Given the description of an element on the screen output the (x, y) to click on. 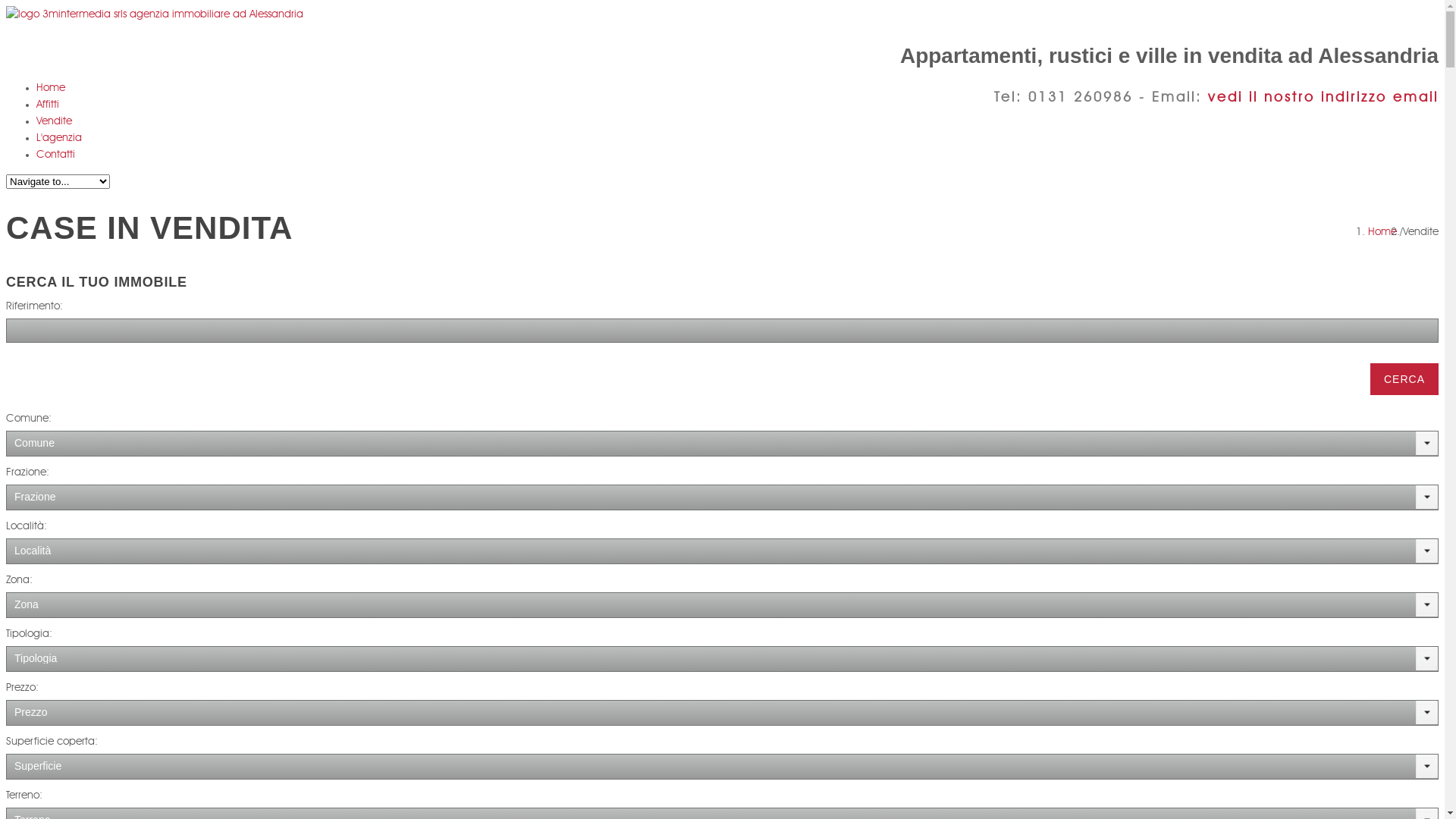
Home Element type: text (50, 87)
0131 260986 Element type: text (1080, 97)
Contatti Element type: text (55, 154)
CERCA Element type: text (1404, 379)
Affitti Element type: text (47, 104)
vedi il nostro indirizzo email Element type: text (1323, 97)
Home Element type: text (1382, 231)
L'agenzia Element type: text (58, 137)
Vendite Element type: text (54, 121)
